Given the description of an element on the screen output the (x, y) to click on. 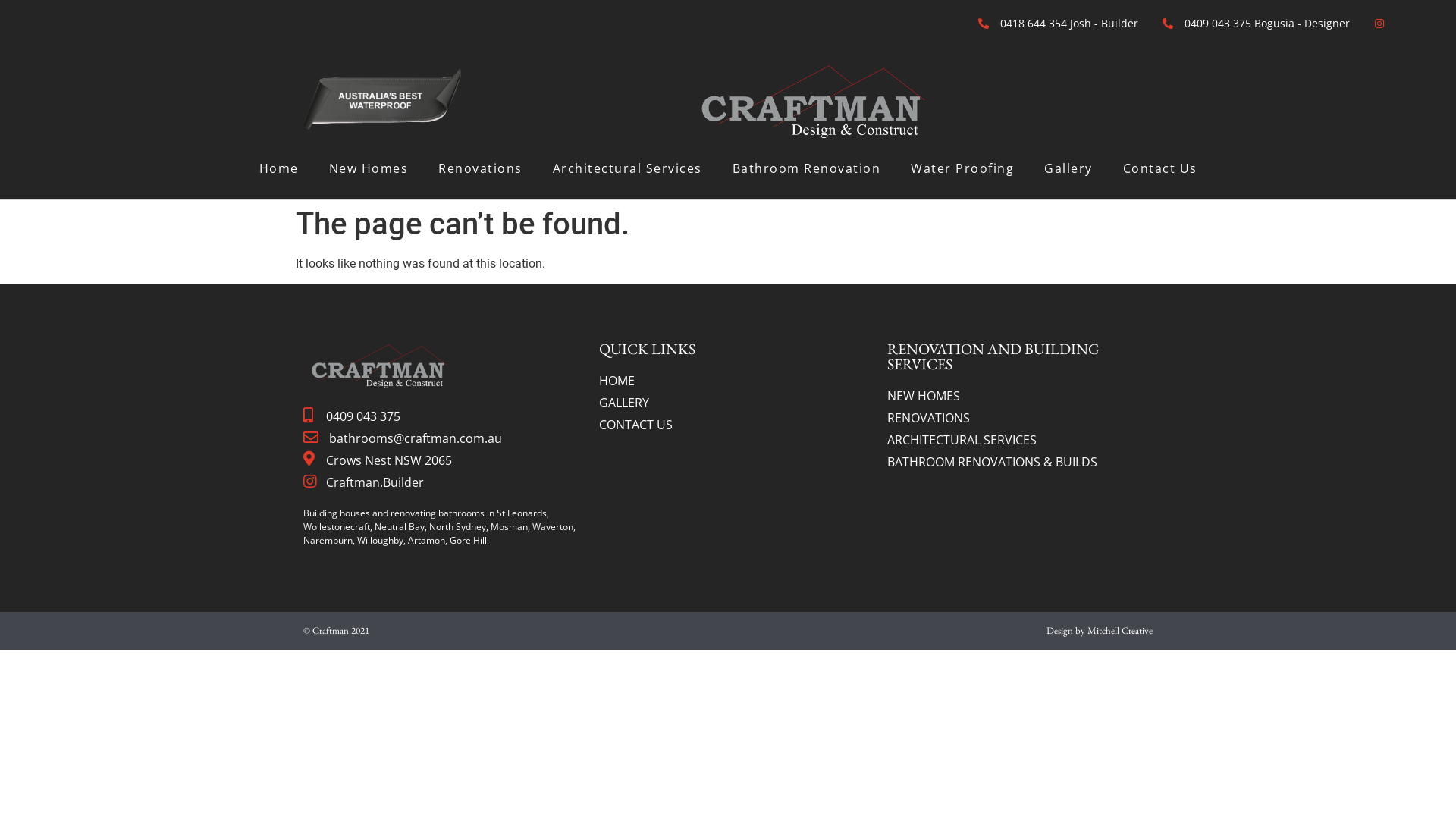
BATHROOM RENOVATIONS & BUILDS Element type: text (1023, 461)
HOME Element type: text (735, 380)
Design by Mitchell Creative Element type: text (1099, 630)
Renovations Element type: text (480, 168)
RENOVATIONS Element type: text (1023, 417)
Bathroom Renovation Element type: text (806, 168)
Water Proofing Element type: text (962, 168)
Craftman.Builder Element type: text (439, 482)
CONTACT US Element type: text (735, 424)
bathrooms@craftman.com.au Element type: text (439, 438)
Architectural Services Element type: text (626, 168)
0409 043 375 Element type: text (439, 416)
ARCHITECTURAL SERVICES Element type: text (1023, 439)
Contact Us Element type: text (1159, 168)
NEW HOMES Element type: text (1023, 395)
0418 644 354 Josh - Builder Element type: text (1056, 23)
0409 043 375 Bogusia - Designer Element type: text (1254, 23)
Home Element type: text (278, 168)
New Homes Element type: text (368, 168)
GALLERY Element type: text (735, 402)
Gallery Element type: text (1068, 168)
